Given the description of an element on the screen output the (x, y) to click on. 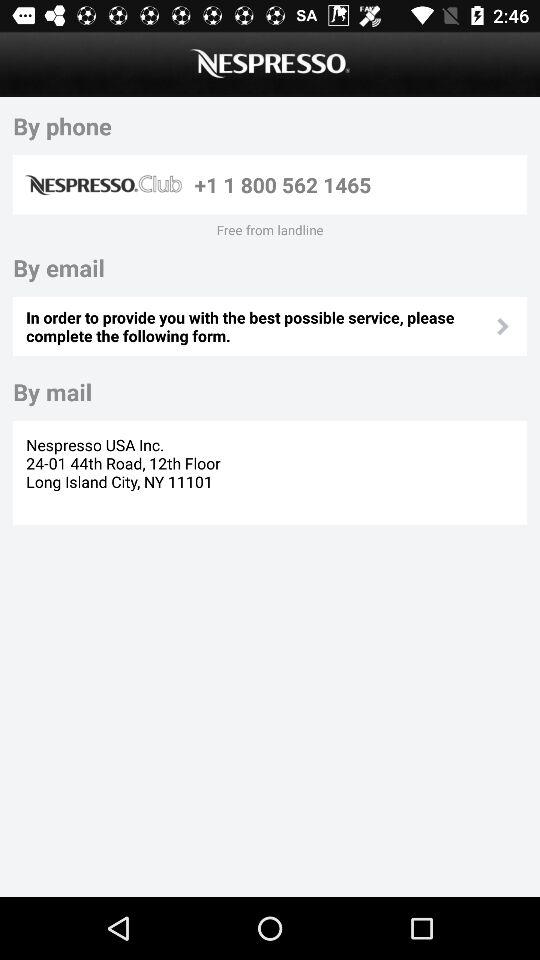
open icon above by mail icon (259, 326)
